Given the description of an element on the screen output the (x, y) to click on. 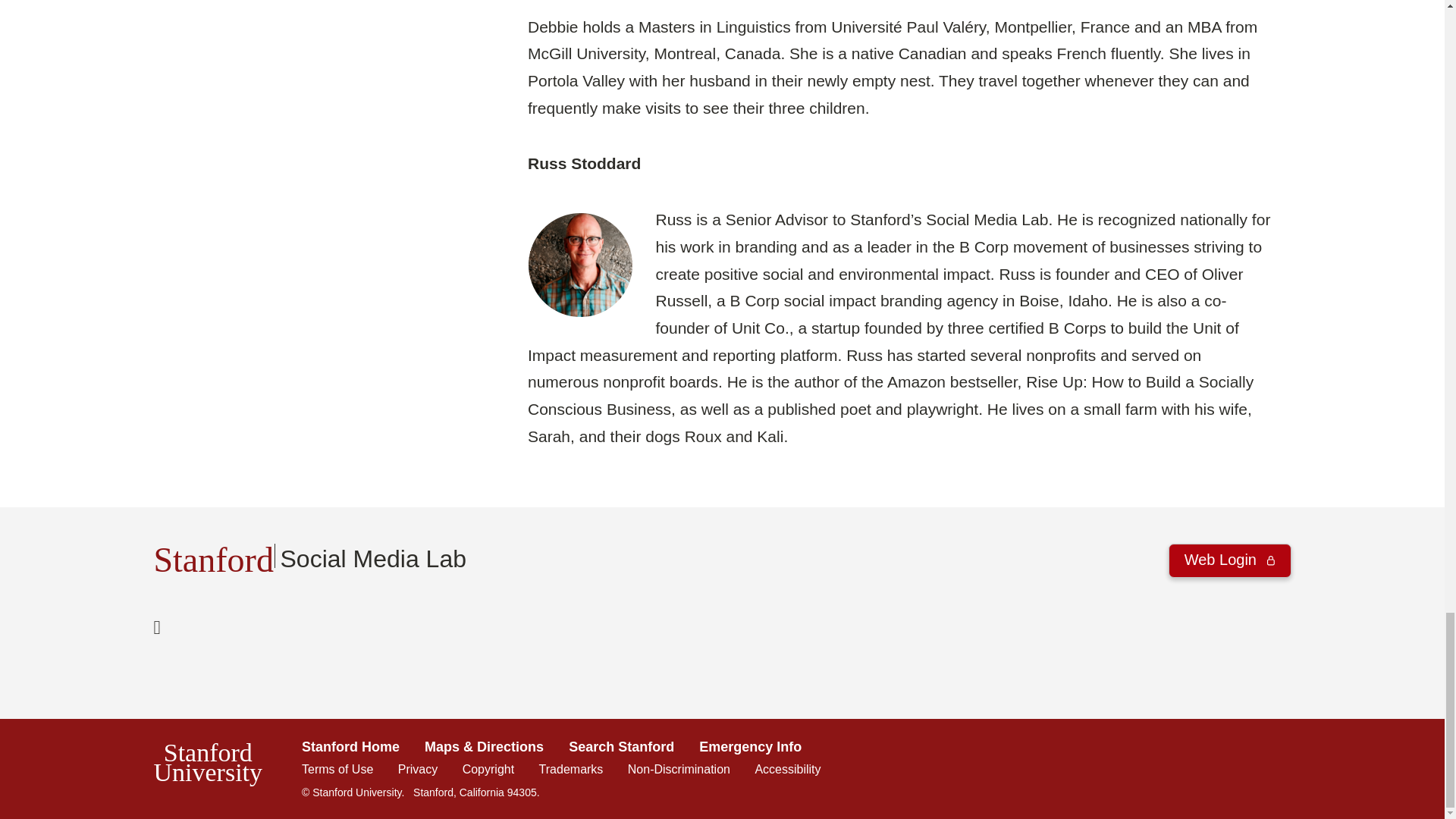
Terms of use for sites (336, 768)
Non-discrimination policy (678, 768)
Privacy and cookie policy (417, 768)
Report alleged copyright infringement (488, 768)
Report web accessibility issues (787, 768)
Ownership and use of Stanford trademarks and images (571, 768)
